Given the description of an element on the screen output the (x, y) to click on. 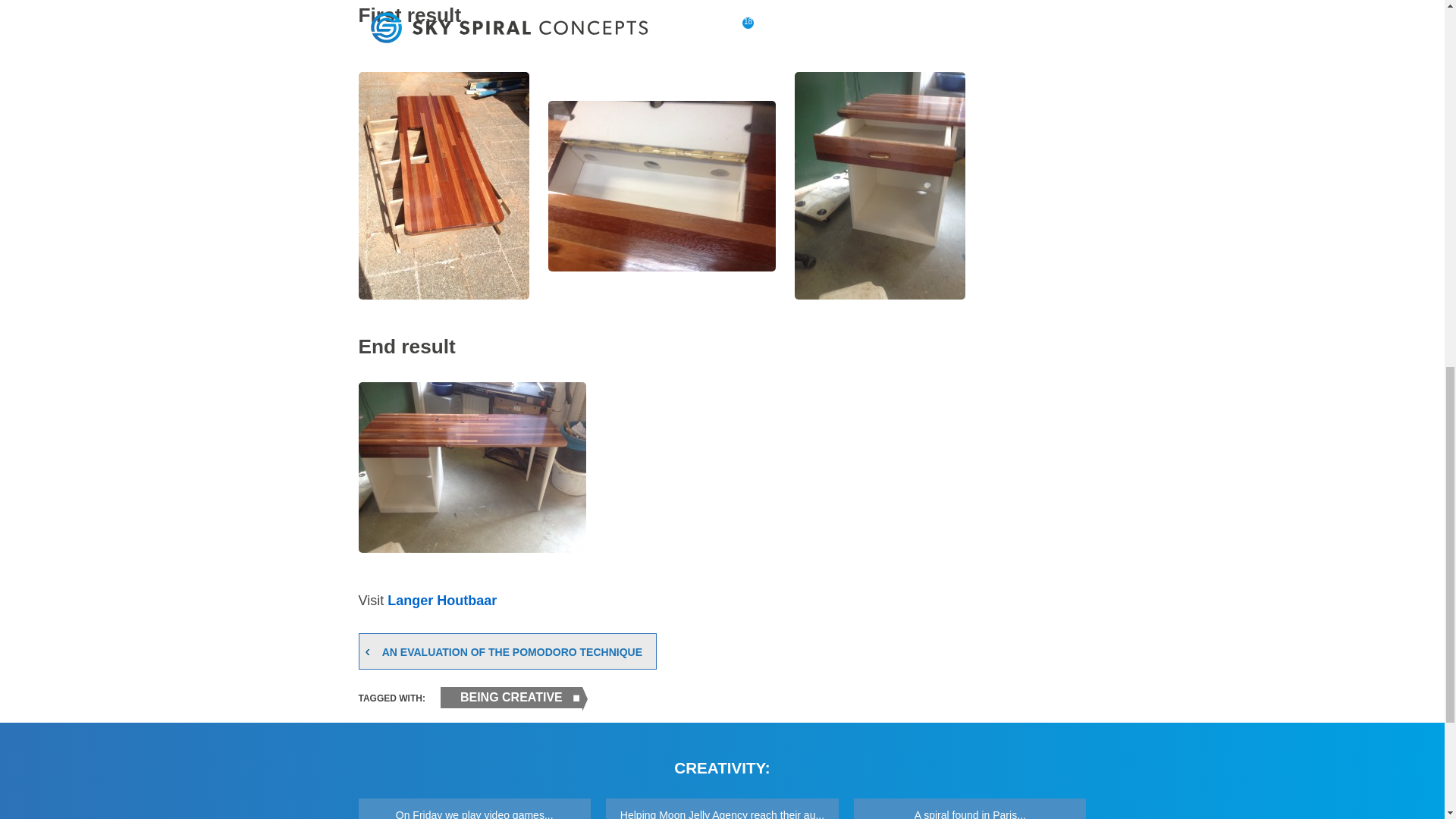
Helping Moon Jelly Agency reach their au... (721, 808)
A spiral found in Paris... (969, 808)
Langer Houtbaar (441, 600)
On Friday we play video games... (473, 808)
AN EVALUATION OF THE POMODORO TECHNIQUE (511, 651)
BEING CREATIVE (511, 697)
